Given the description of an element on the screen output the (x, y) to click on. 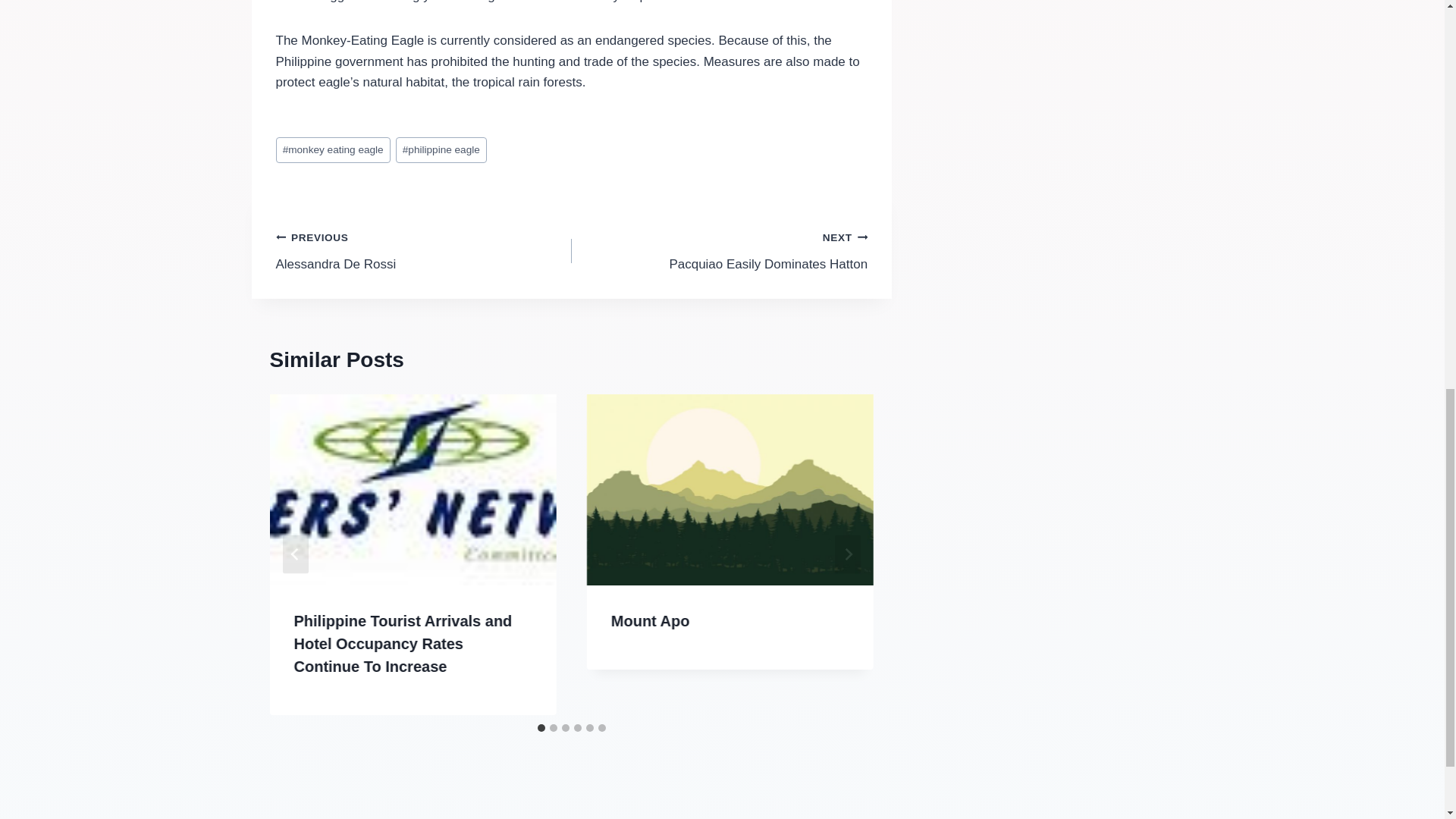
monkey eating eagle (333, 150)
philippine eagle (424, 250)
